Given the description of an element on the screen output the (x, y) to click on. 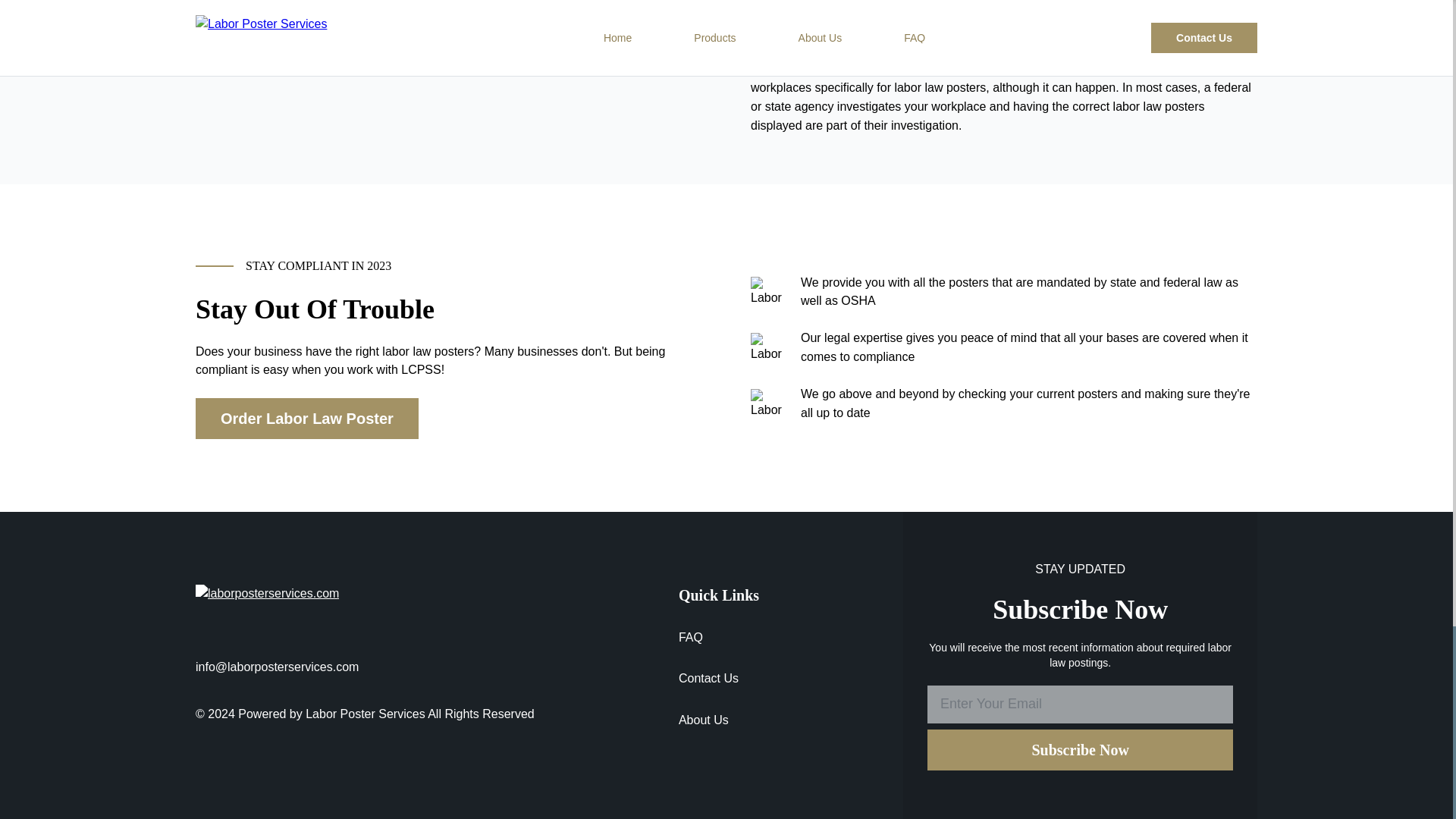
Contact Us (718, 686)
FAQ (718, 645)
Order Labor Law Poster (307, 418)
Subscribe Now (1080, 749)
About Us (718, 728)
